Given the description of an element on the screen output the (x, y) to click on. 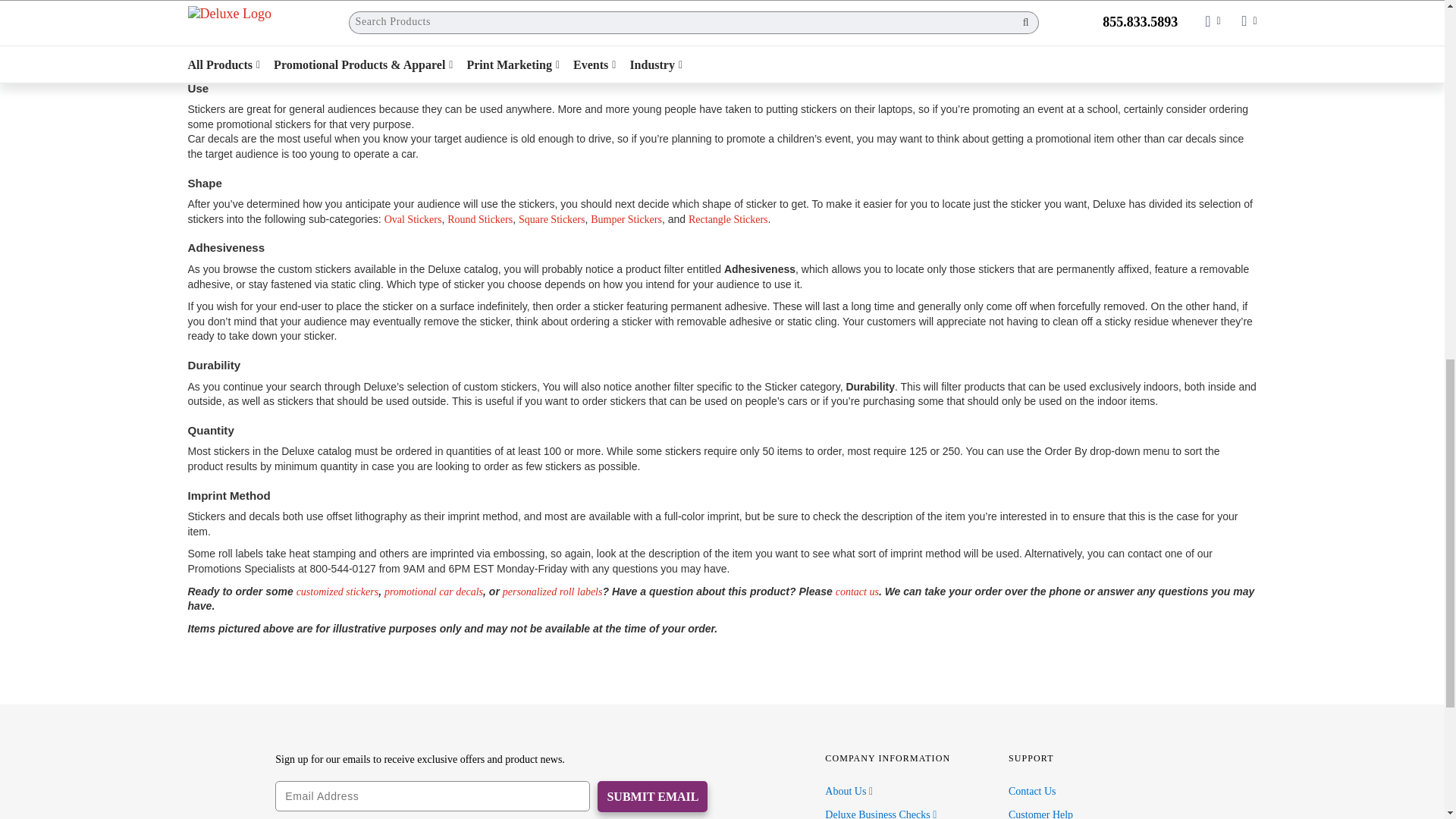
Opens in New Browser Window (880, 814)
Promotional Car Decals (433, 591)
Square Stickers (551, 219)
Bumper Stickers (626, 219)
Oval Stickers (413, 219)
Round Stickers (479, 219)
Personalized Roll Labels (552, 591)
Customized Stickers (337, 591)
Opens in New Browser Window (848, 790)
Rectangle Stickers (728, 219)
